Given the description of an element on the screen output the (x, y) to click on. 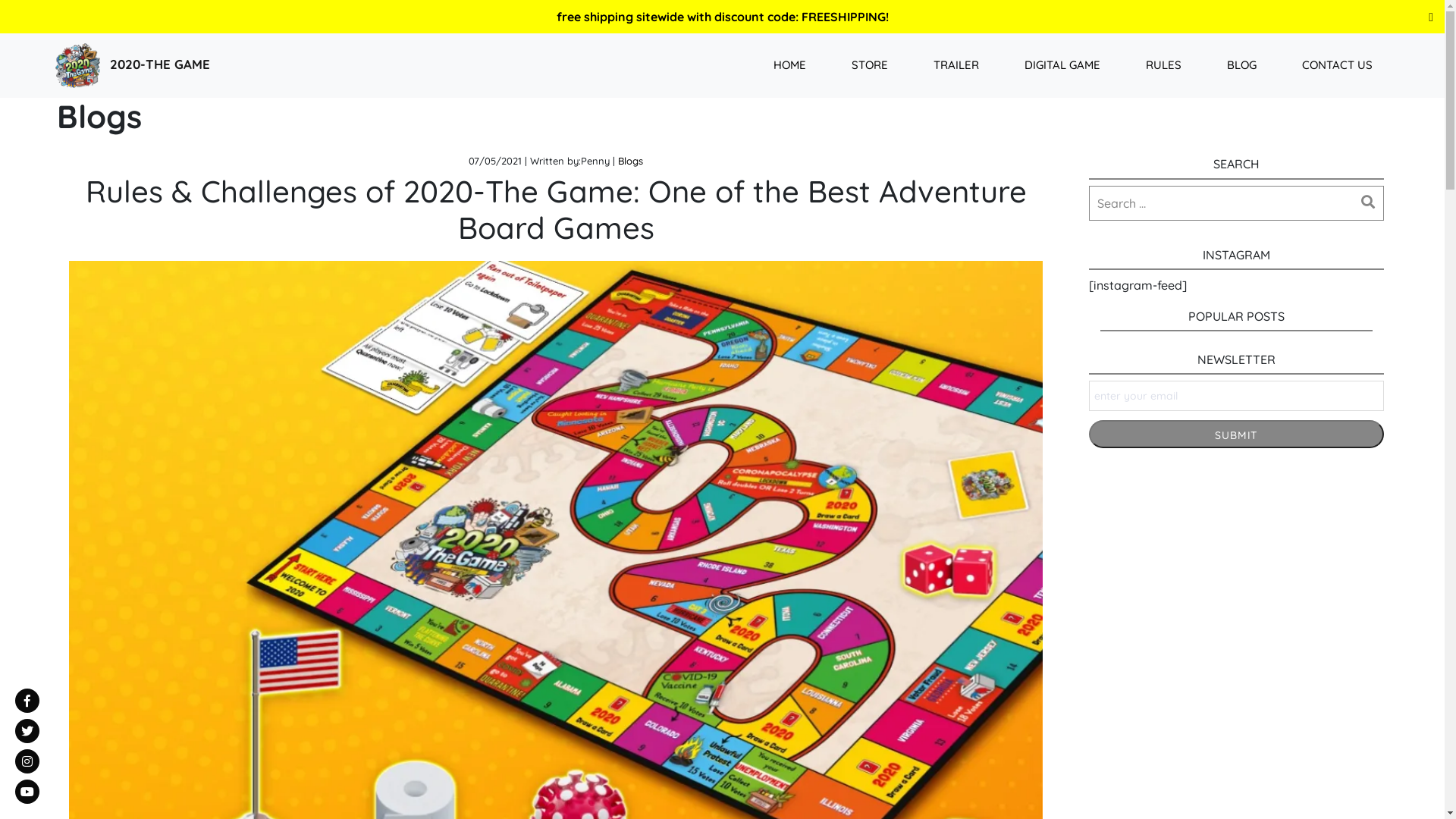
2020-THE GAME Element type: text (129, 65)
BLOG Element type: text (1241, 65)
Facebook Element type: hover (27, 700)
Blogs Element type: text (630, 160)
Youtube Element type: hover (27, 791)
CONTACT US Element type: text (1336, 65)
DIGITAL GAME Element type: text (1062, 65)
HOME Element type: text (789, 65)
Instagram Element type: hover (27, 761)
Twitter Element type: hover (27, 730)
SUBMIT Element type: text (1235, 434)
STORE Element type: text (869, 65)
RULES Element type: text (1163, 65)
TRAILER Element type: text (956, 65)
